Given the description of an element on the screen output the (x, y) to click on. 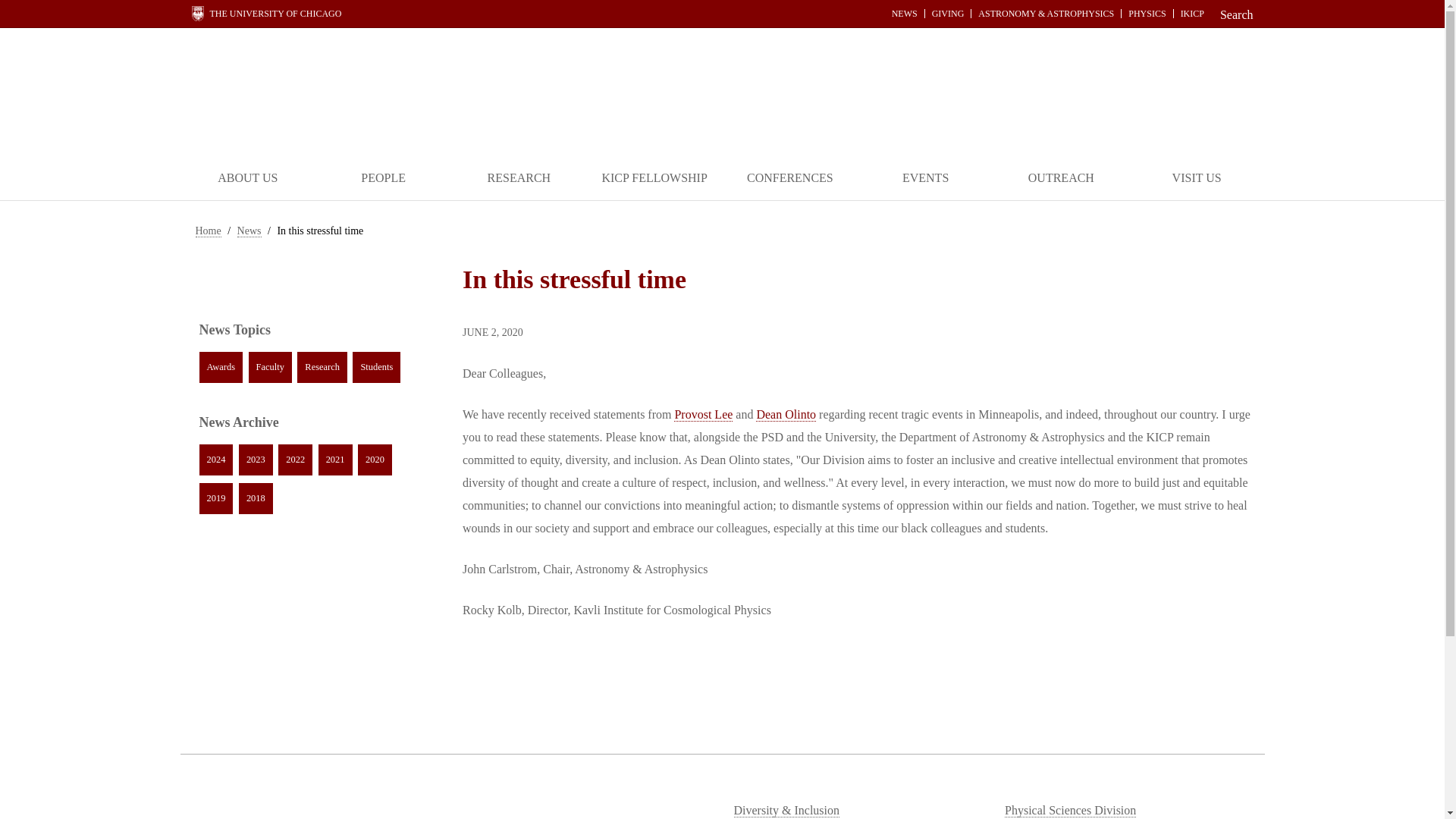
VISIT US (1197, 178)
PHYSICS (1146, 13)
Kavli Institute for Cosmological Physics (721, 93)
OUTREACH (1060, 178)
KICP FELLOWSHIP (654, 178)
EVENTS (924, 178)
PEOPLE (383, 178)
ABOUT US (247, 178)
CONFERENCES (789, 178)
Search (1232, 13)
NEWS (904, 13)
THE UNIVERSITY OF CHICAGO (265, 13)
IKICP (1192, 13)
GIVING (947, 13)
RESEARCH (518, 178)
